Given the description of an element on the screen output the (x, y) to click on. 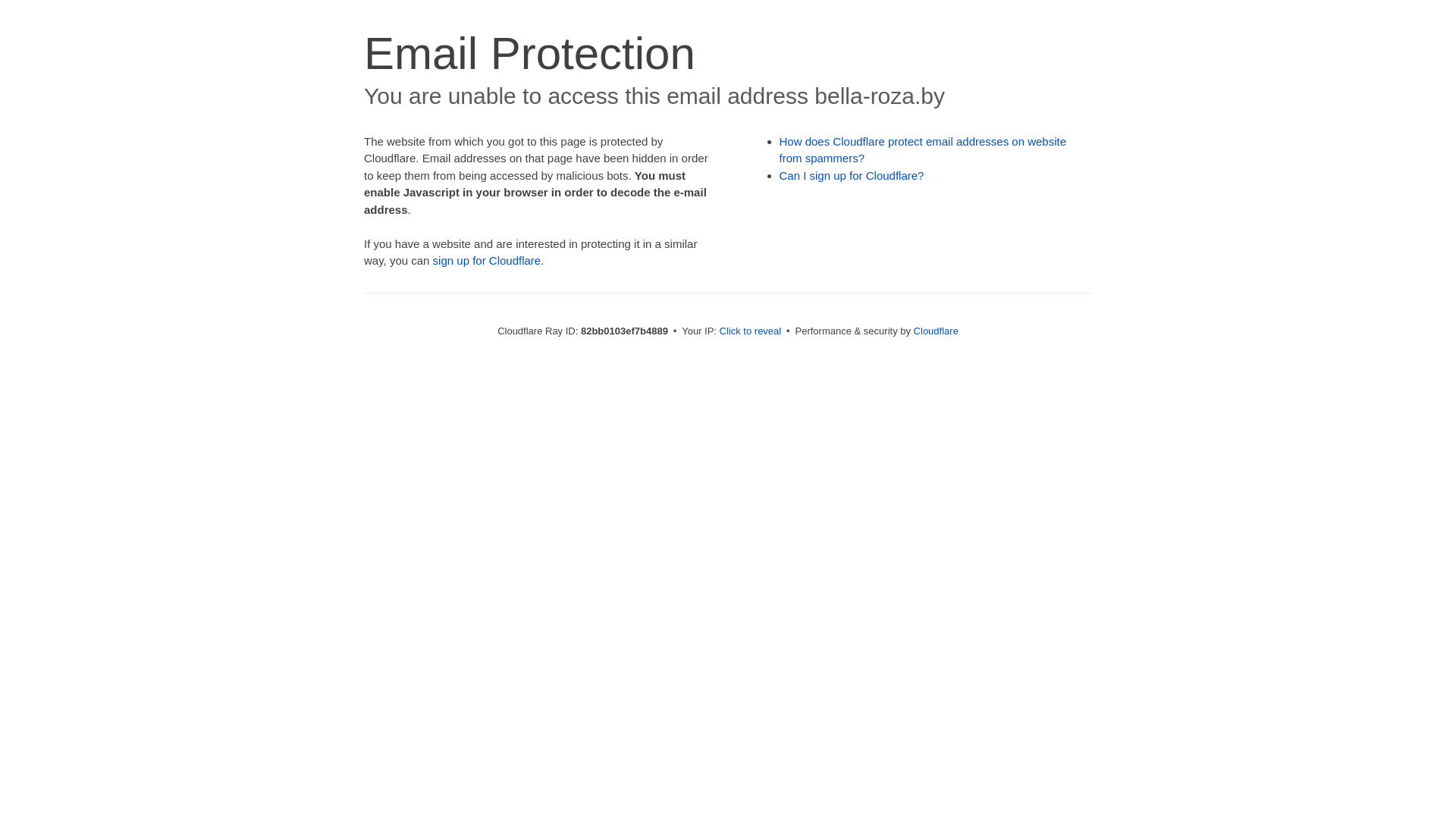
Can I sign up for Cloudflare? Element type: text (851, 175)
Click to reveal Element type: text (750, 330)
sign up for Cloudflare Element type: text (487, 260)
Cloudflare Element type: text (935, 330)
